Given the description of an element on the screen output the (x, y) to click on. 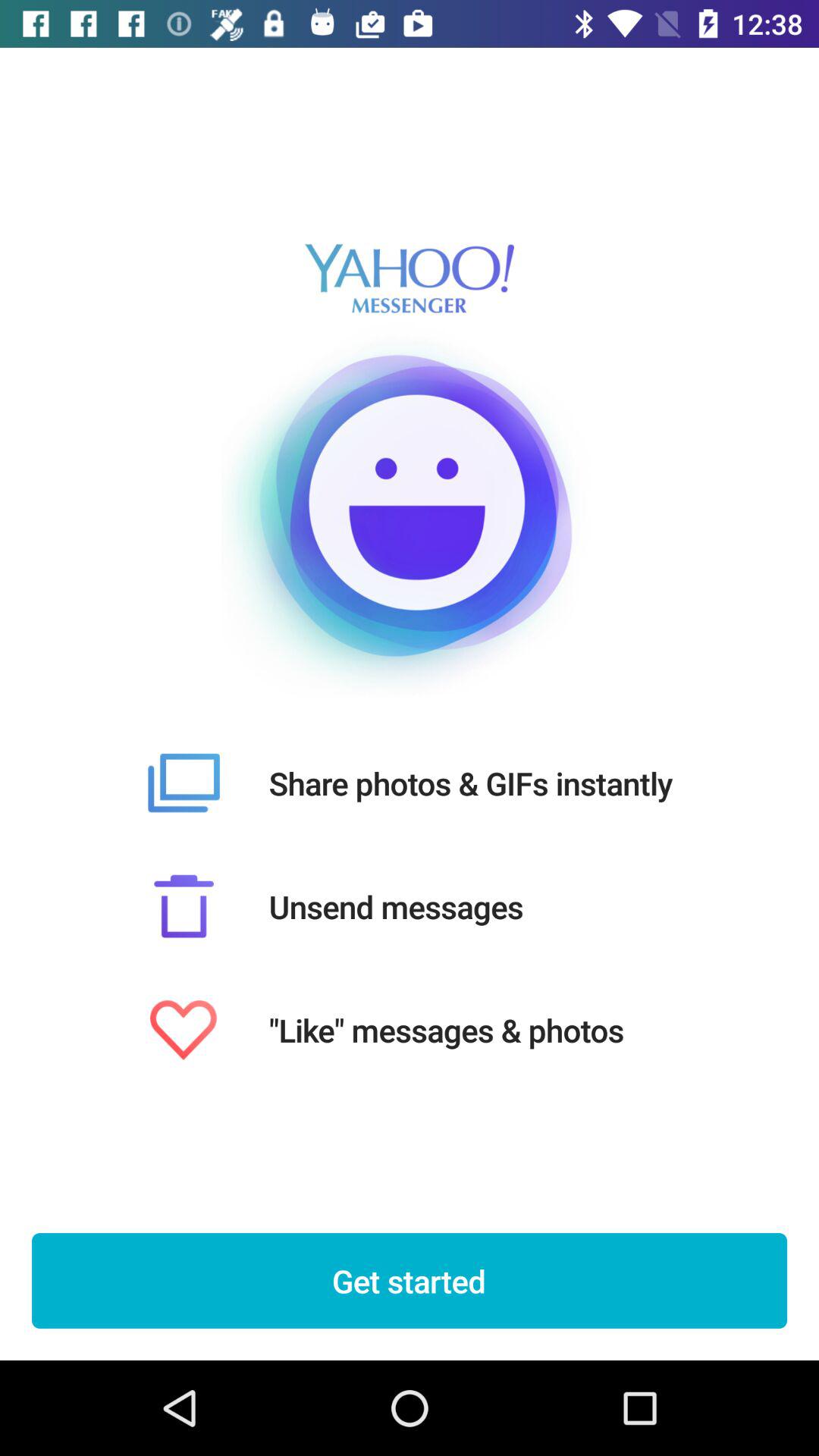
click the get started (409, 1280)
